Given the description of an element on the screen output the (x, y) to click on. 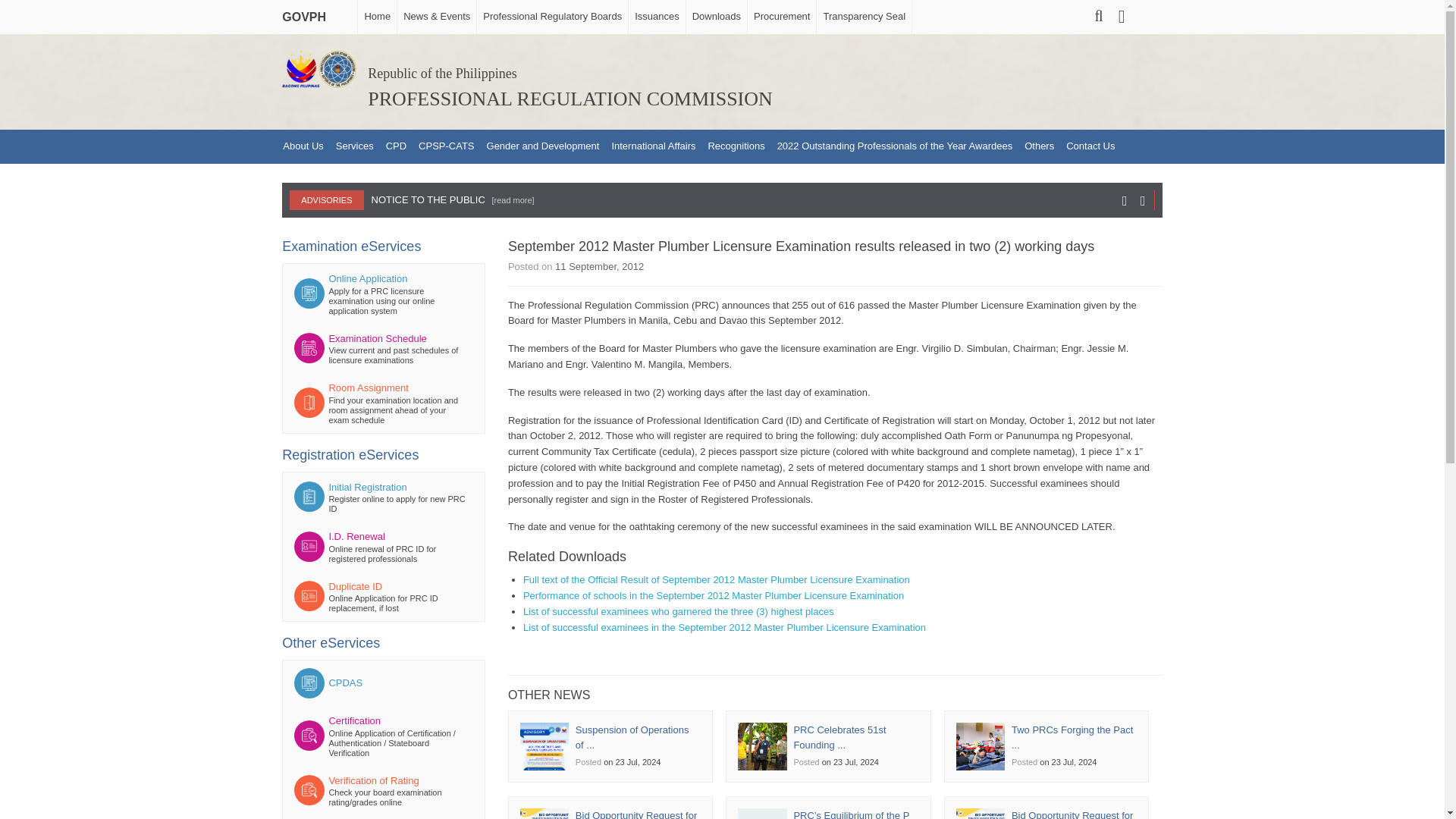
Procurement (780, 17)
Professional Regulatory Boards (551, 17)
Issuances (656, 17)
Downloads (715, 17)
Home (376, 17)
Transparency Seal (863, 17)
GOVPH (308, 13)
